Given the description of an element on the screen output the (x, y) to click on. 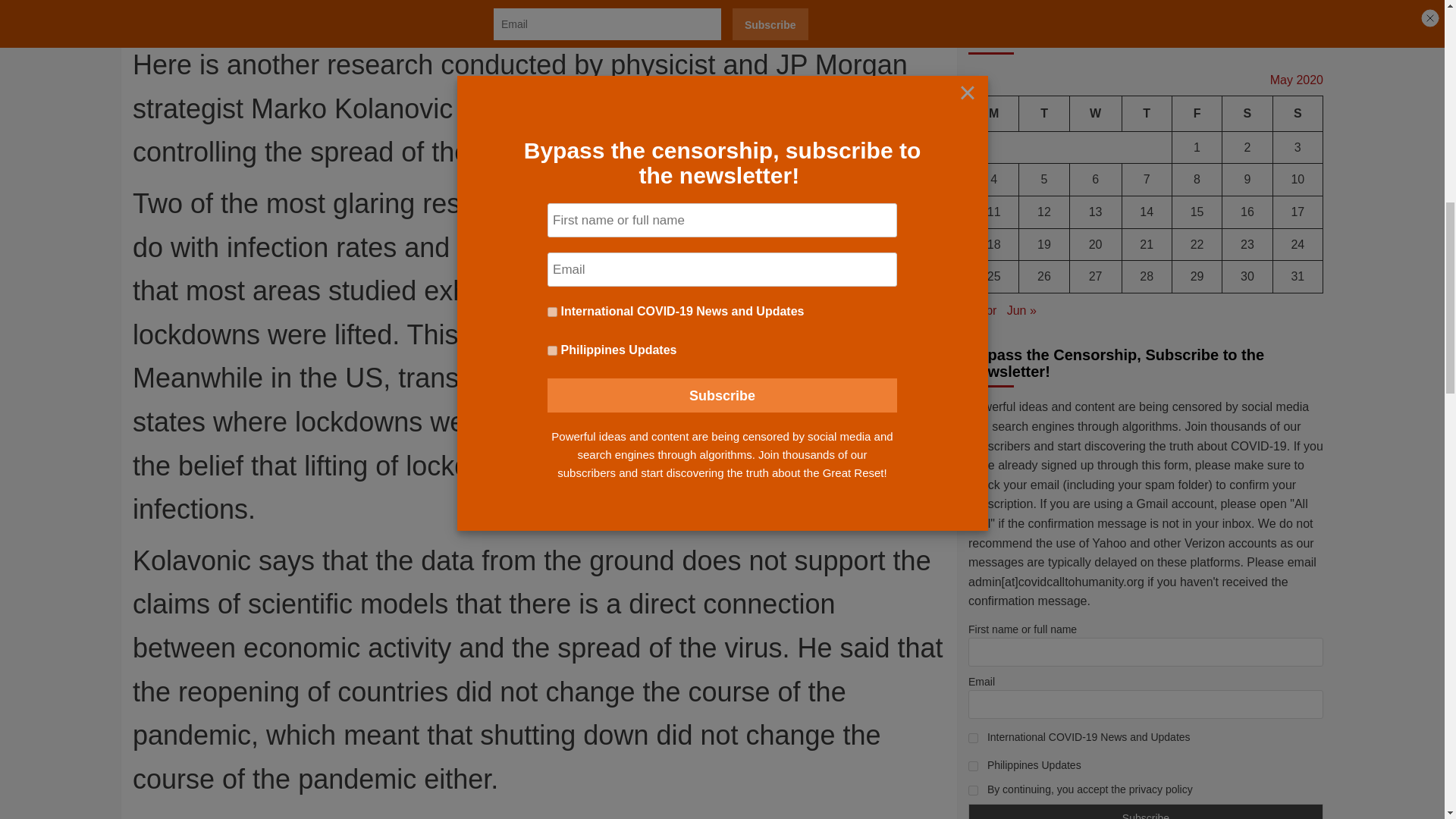
on (973, 177)
Subscribe (1145, 205)
1 (973, 125)
4 (973, 153)
